Given the description of an element on the screen output the (x, y) to click on. 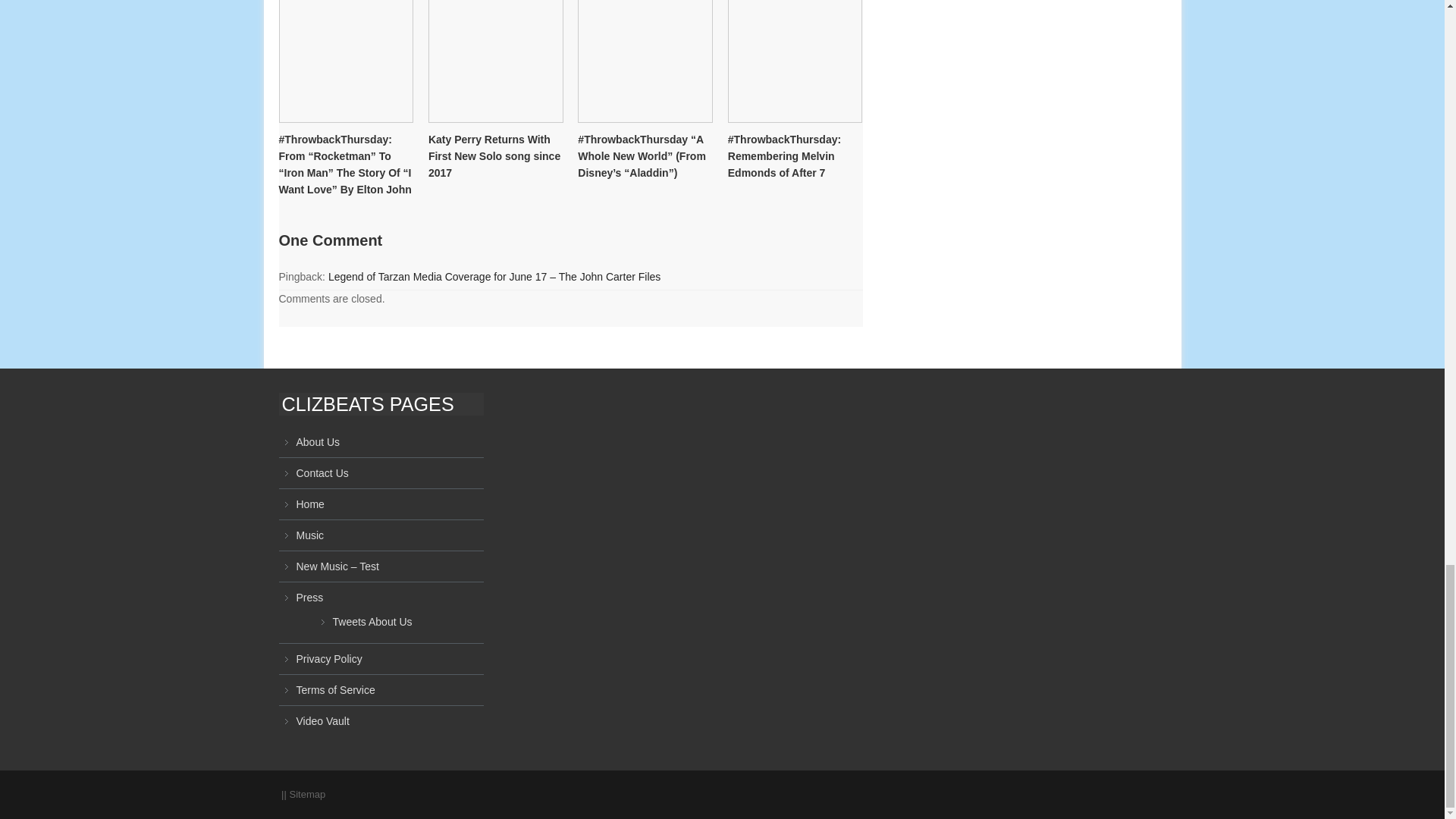
Katy Perry Returns With First New Solo song since 2017 (495, 53)
